Given the description of an element on the screen output the (x, y) to click on. 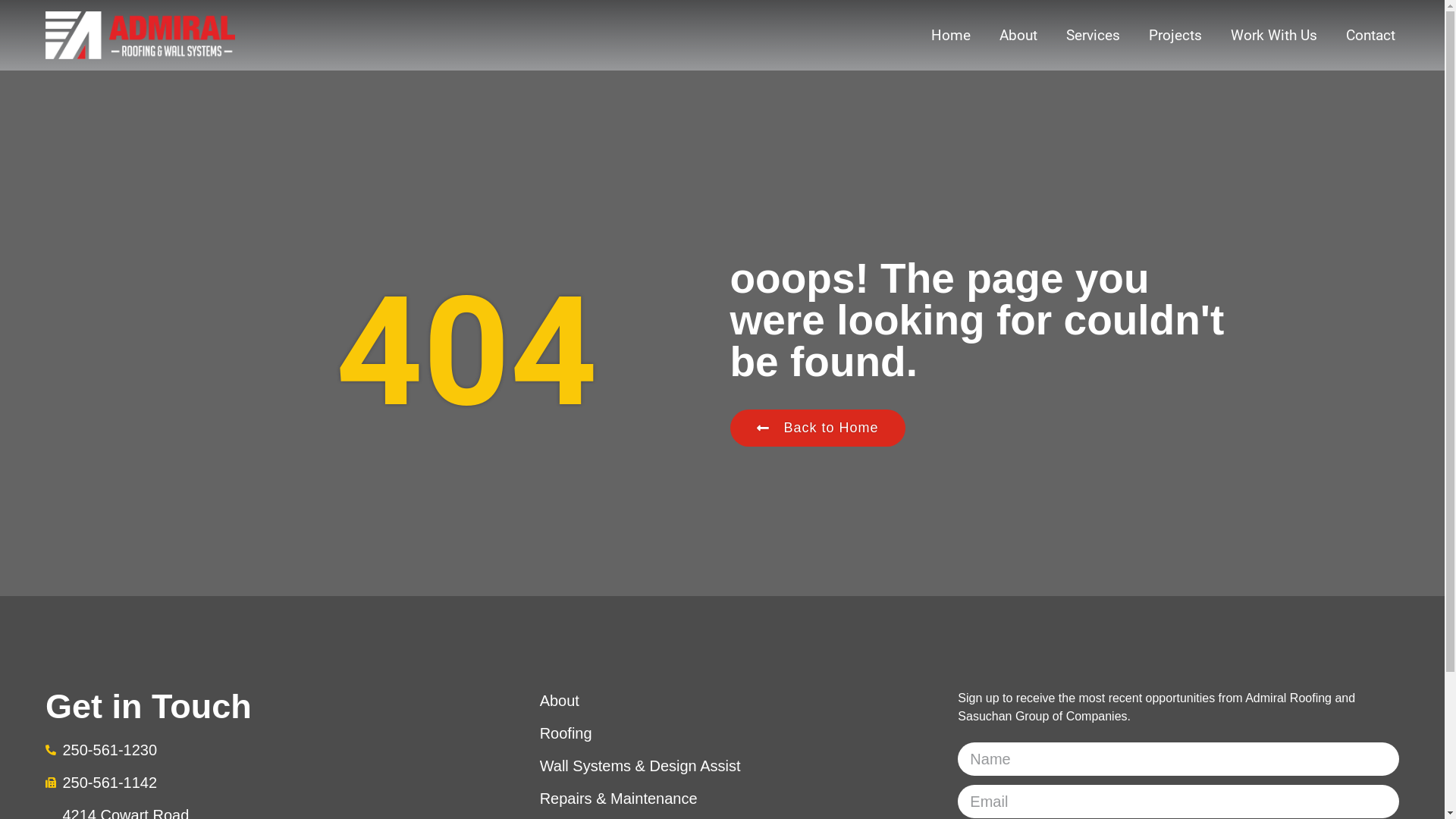
Roofing Element type: text (741, 732)
Back to Home Element type: text (816, 427)
About Element type: text (1018, 34)
Work With Us Element type: text (1273, 34)
Contact Element type: text (1370, 34)
Repairs & Maintenance Element type: text (741, 798)
Wall Systems & Design Assist Element type: text (741, 765)
Home Element type: text (950, 34)
250-561-1230 Element type: text (265, 749)
250-561-1142 Element type: text (265, 782)
Projects Element type: text (1175, 34)
About Element type: text (741, 700)
Services Element type: text (1092, 34)
